Given the description of an element on the screen output the (x, y) to click on. 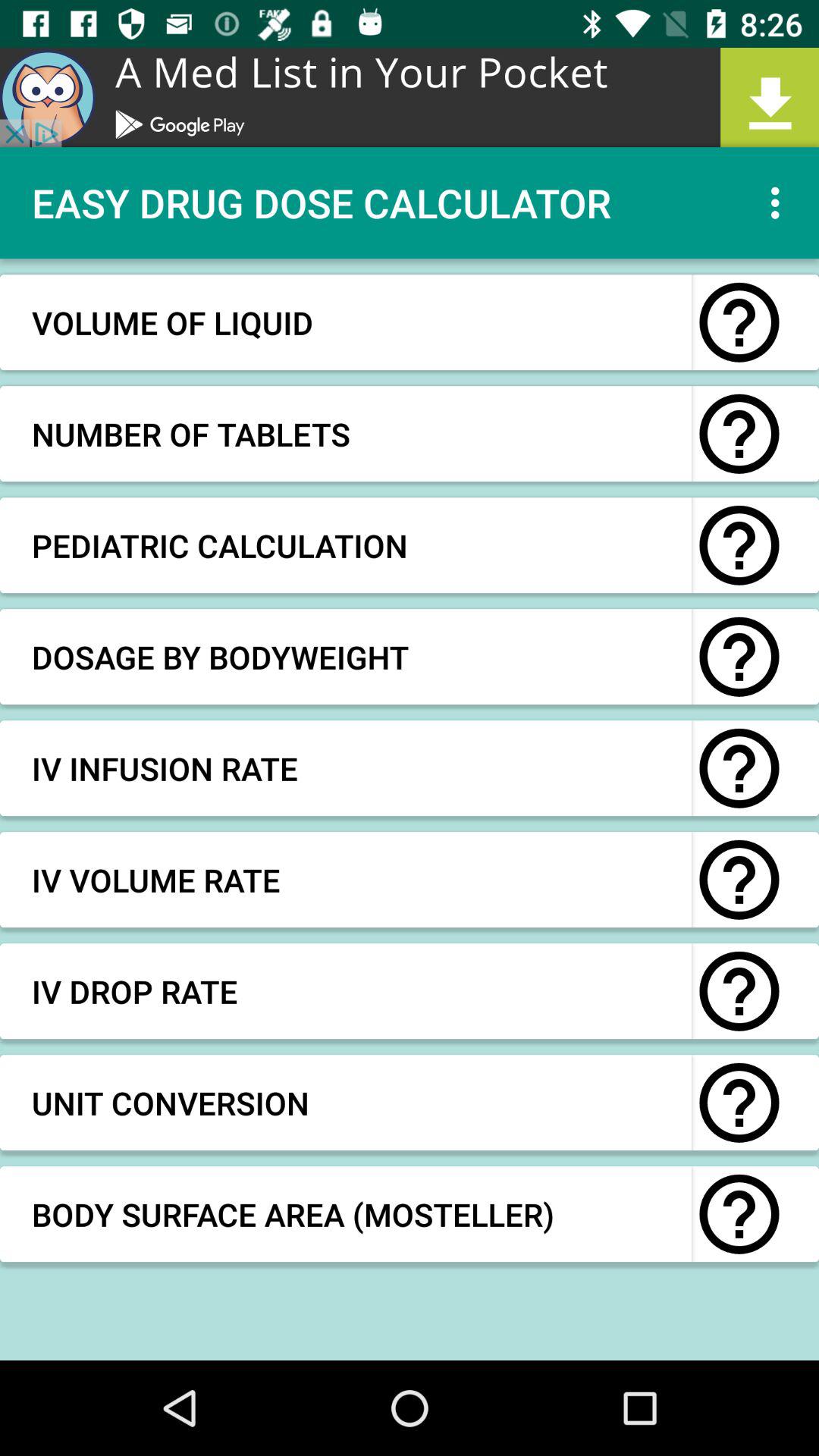
question the option (739, 991)
